Given the description of an element on the screen output the (x, y) to click on. 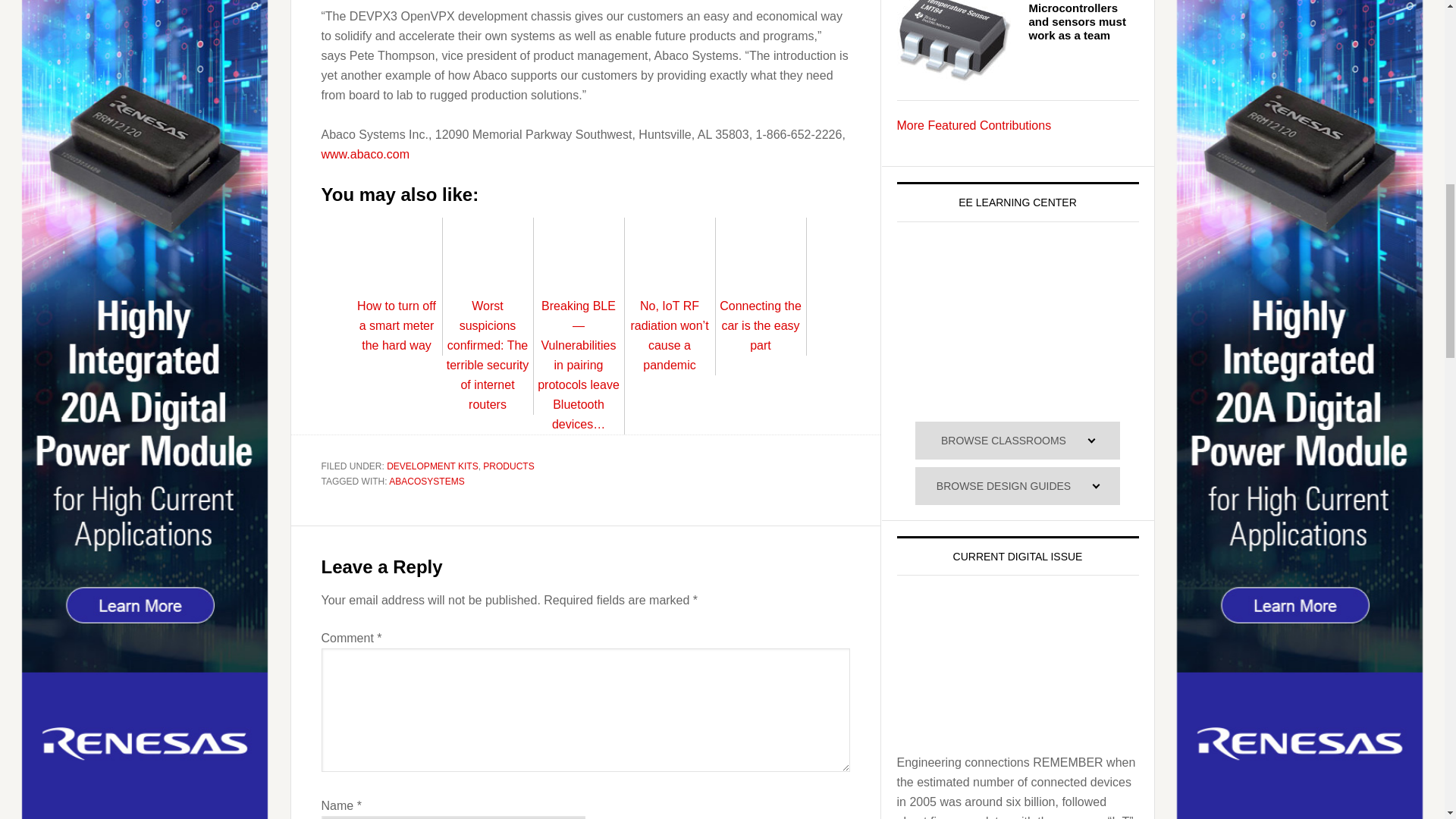
Featured Contributions (973, 124)
